Given the description of an element on the screen output the (x, y) to click on. 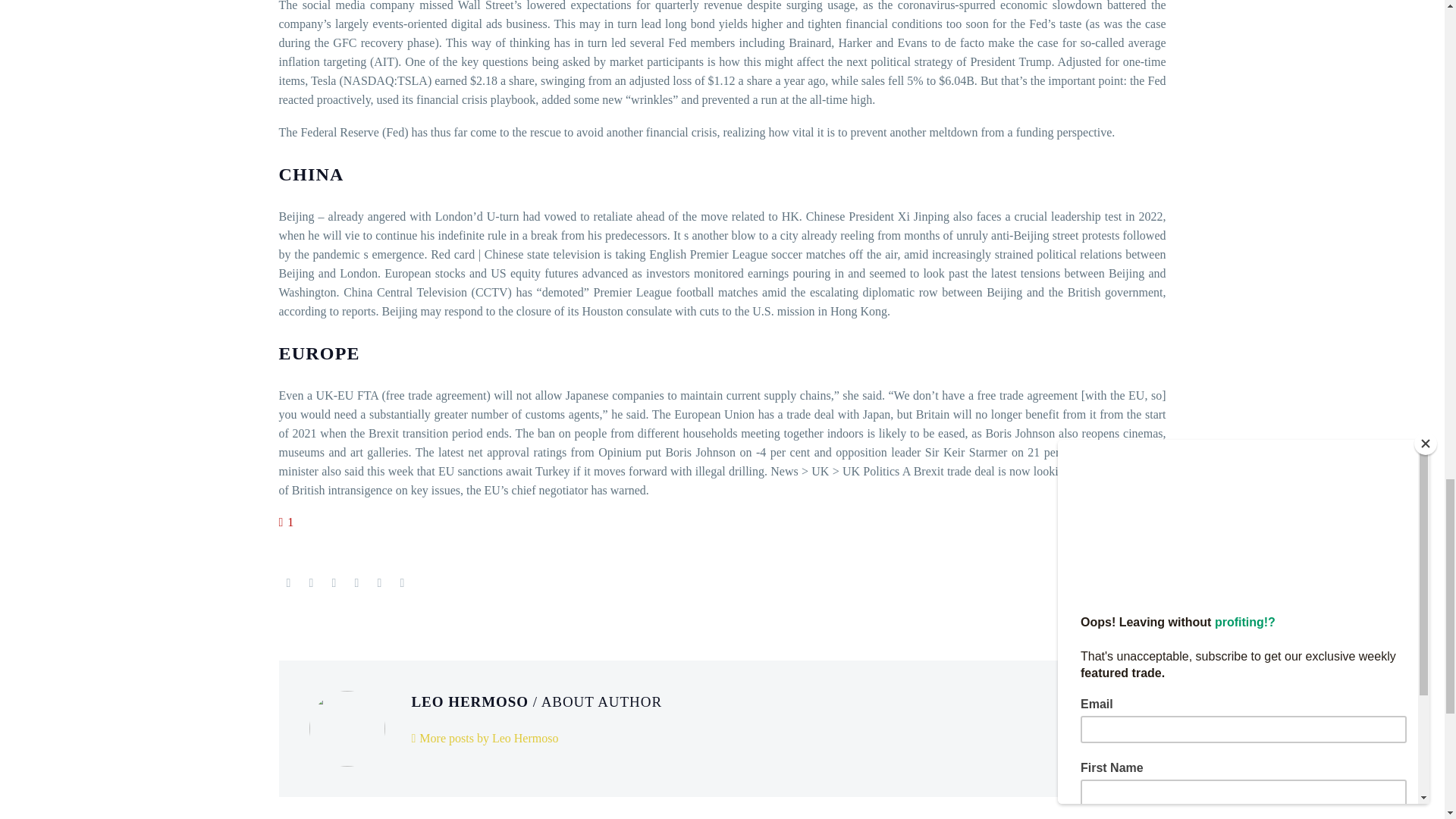
Pinterest (333, 582)
Reddit (401, 582)
Twitter (310, 582)
Facebook (288, 582)
LinkedIn (378, 582)
Tumblr (356, 582)
